Given the description of an element on the screen output the (x, y) to click on. 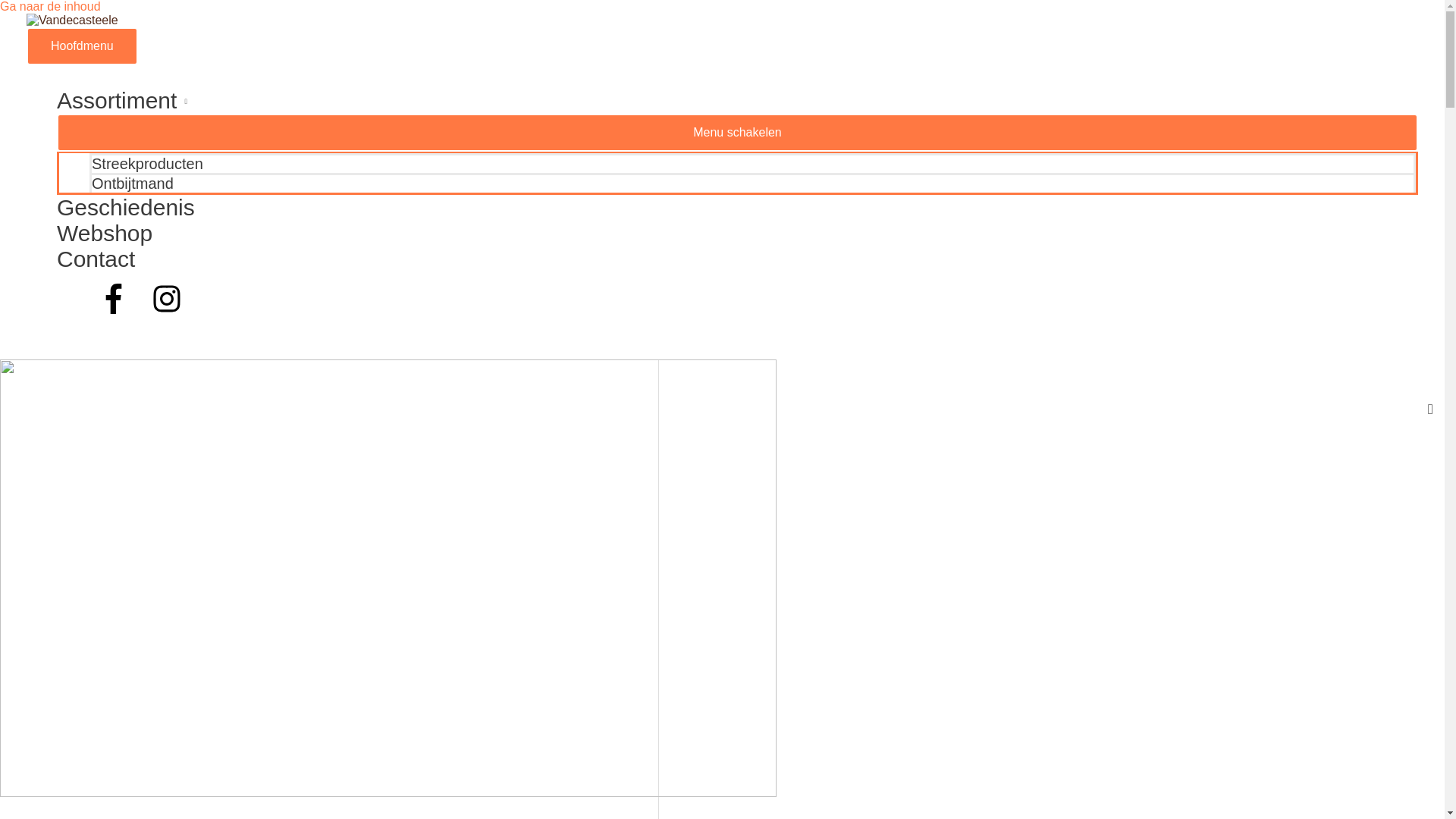
Contact Element type: text (737, 259)
Hoofdmenu Element type: text (82, 46)
Ga naar de inhoud Element type: text (50, 6)
Menu schakelen Element type: text (737, 132)
Geschiedenis Element type: text (737, 207)
Ontbijtmand Element type: text (752, 182)
Streekproducten Element type: text (752, 162)
Webshop Element type: text (737, 233)
Assortiment Element type: text (737, 100)
